Given the description of an element on the screen output the (x, y) to click on. 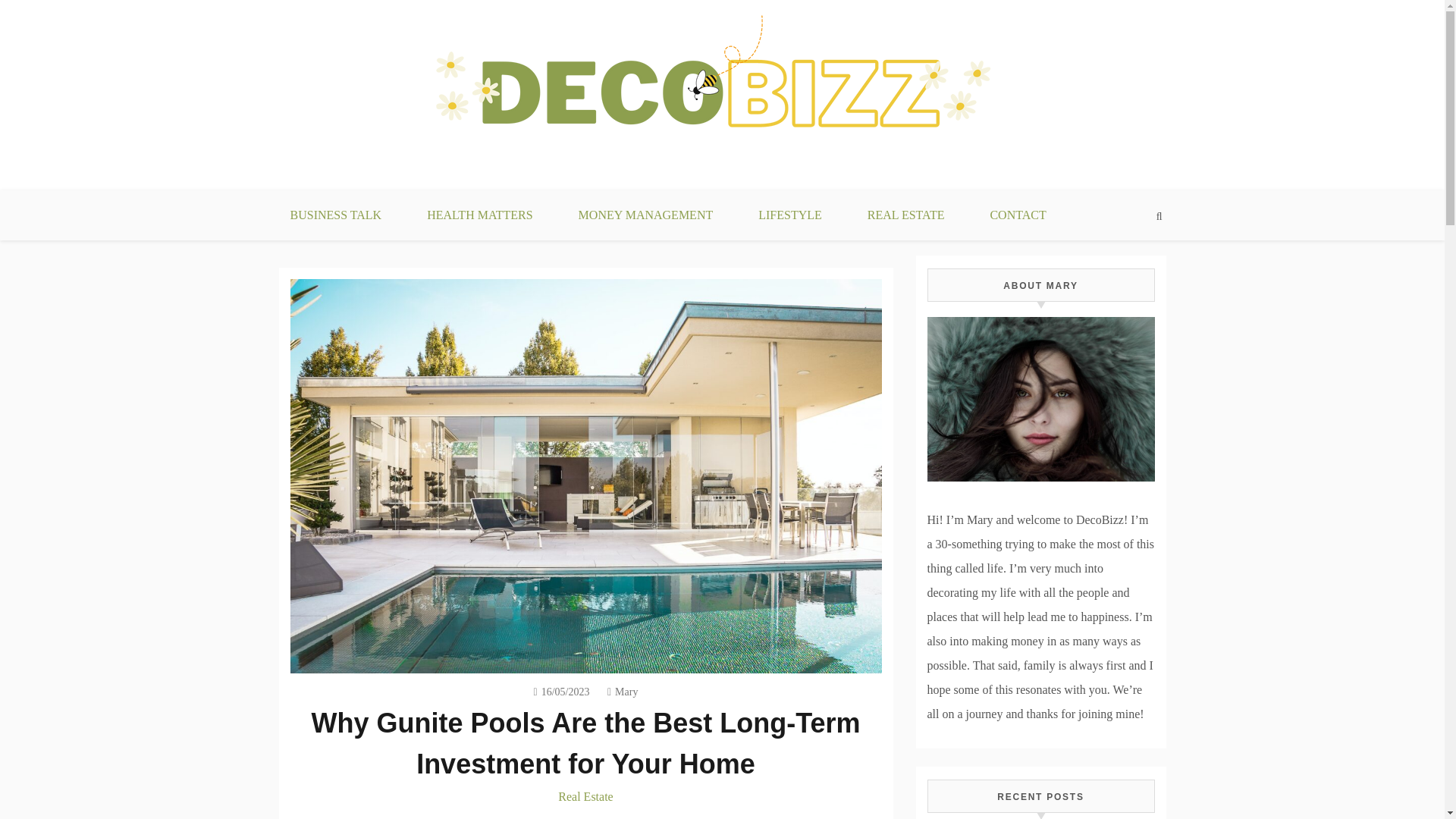
REAL ESTATE (906, 215)
Mary (622, 691)
MONEY MANAGEMENT (646, 215)
Real Estate (584, 796)
HEALTH MATTERS (479, 215)
LIFESTYLE (789, 215)
BUSINESS TALK (335, 215)
CONTACT (1017, 215)
DecoBizz Lifestyle Blog (416, 198)
